Given the description of an element on the screen output the (x, y) to click on. 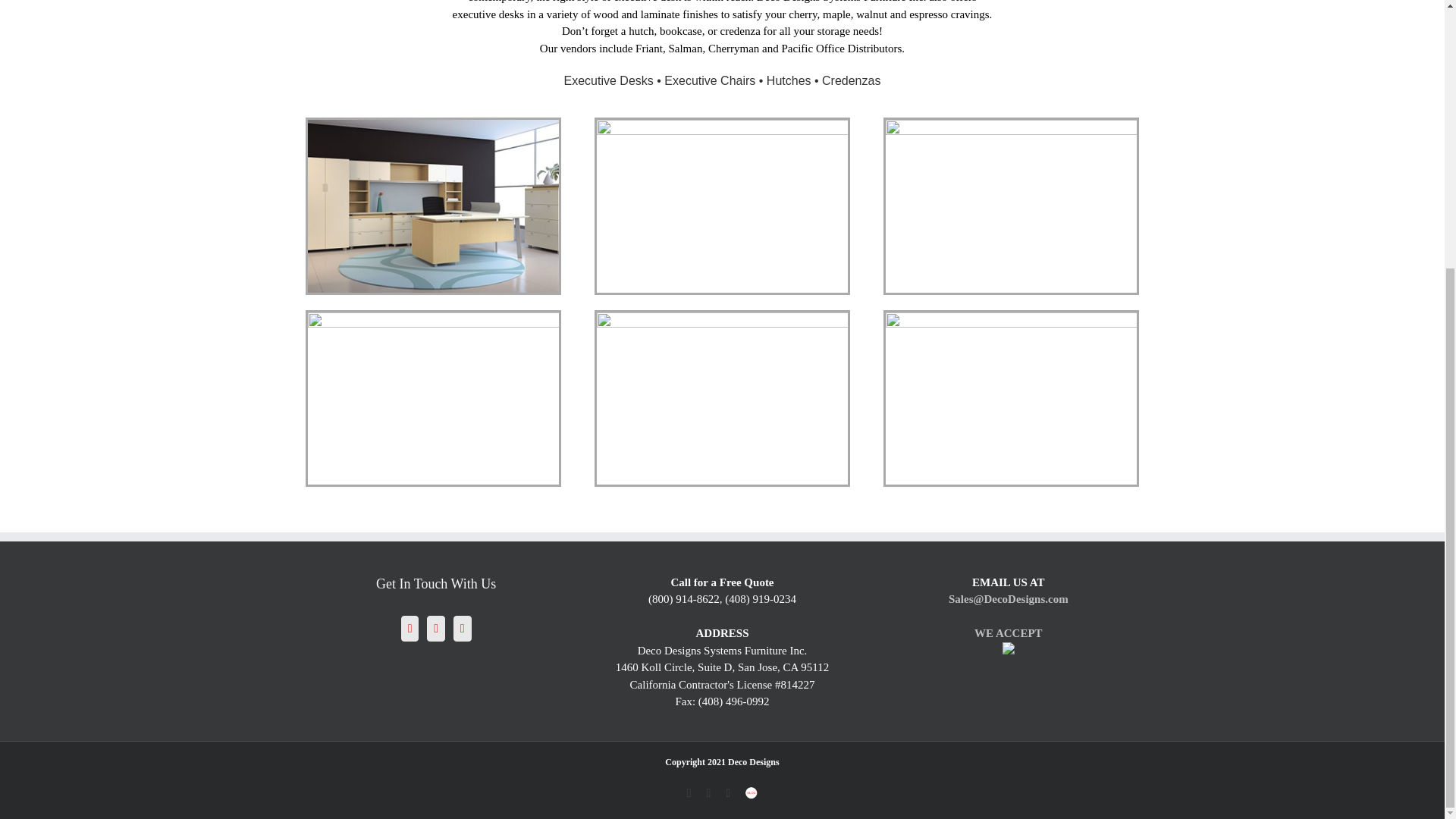
executive-desks4 (433, 398)
executive-desks2 (721, 205)
tables5 (1011, 398)
executive-desks1 (433, 205)
executive-desks3 (1011, 205)
executive-desks5 (721, 398)
